Given the description of an element on the screen output the (x, y) to click on. 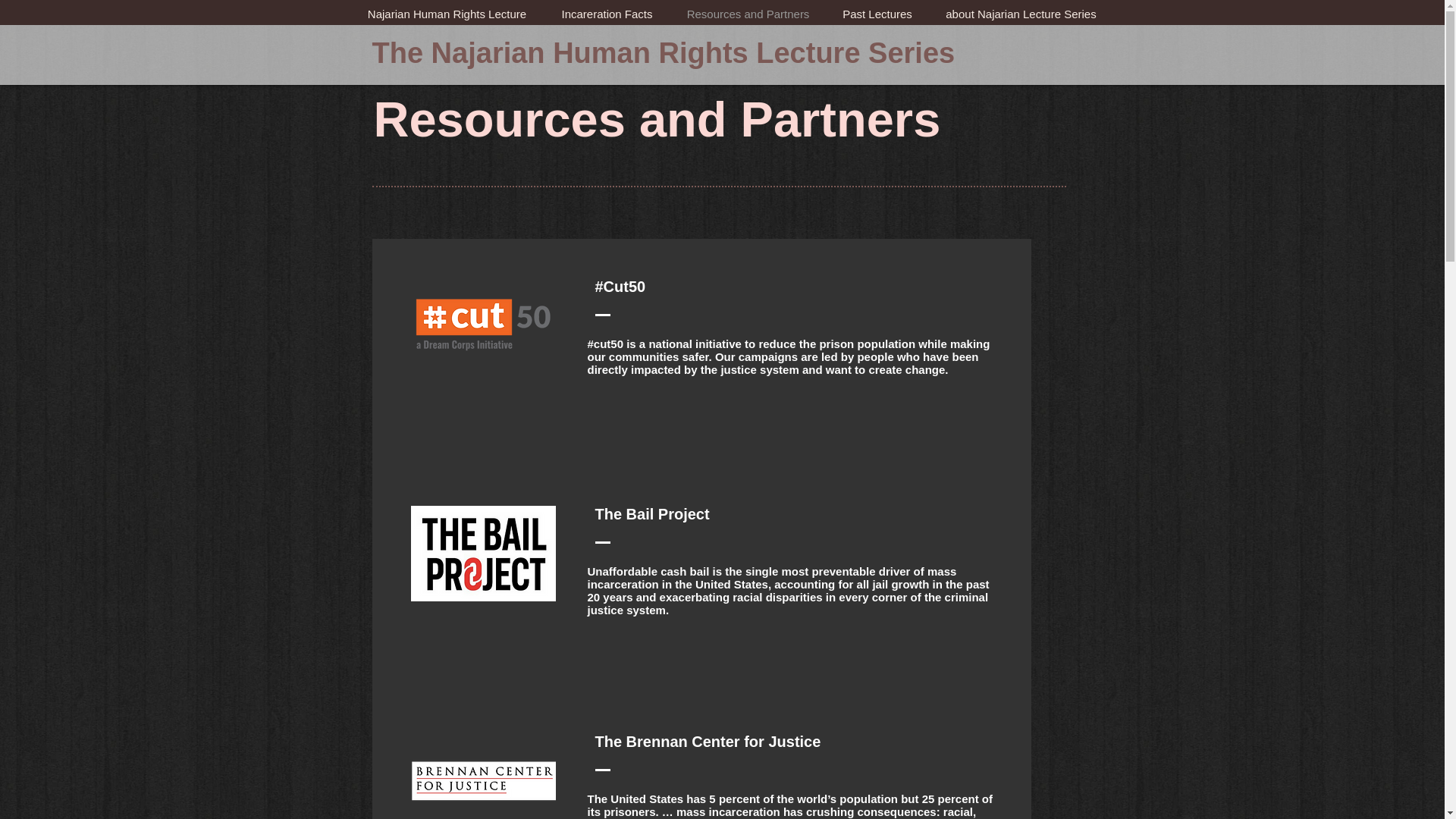
Najarian Human Rights Lecture (446, 14)
Incareration Facts (606, 14)
about Najarian Lecture Series (1021, 14)
Past Lectures (876, 14)
Resources and Partners (747, 14)
